Given the description of an element on the screen output the (x, y) to click on. 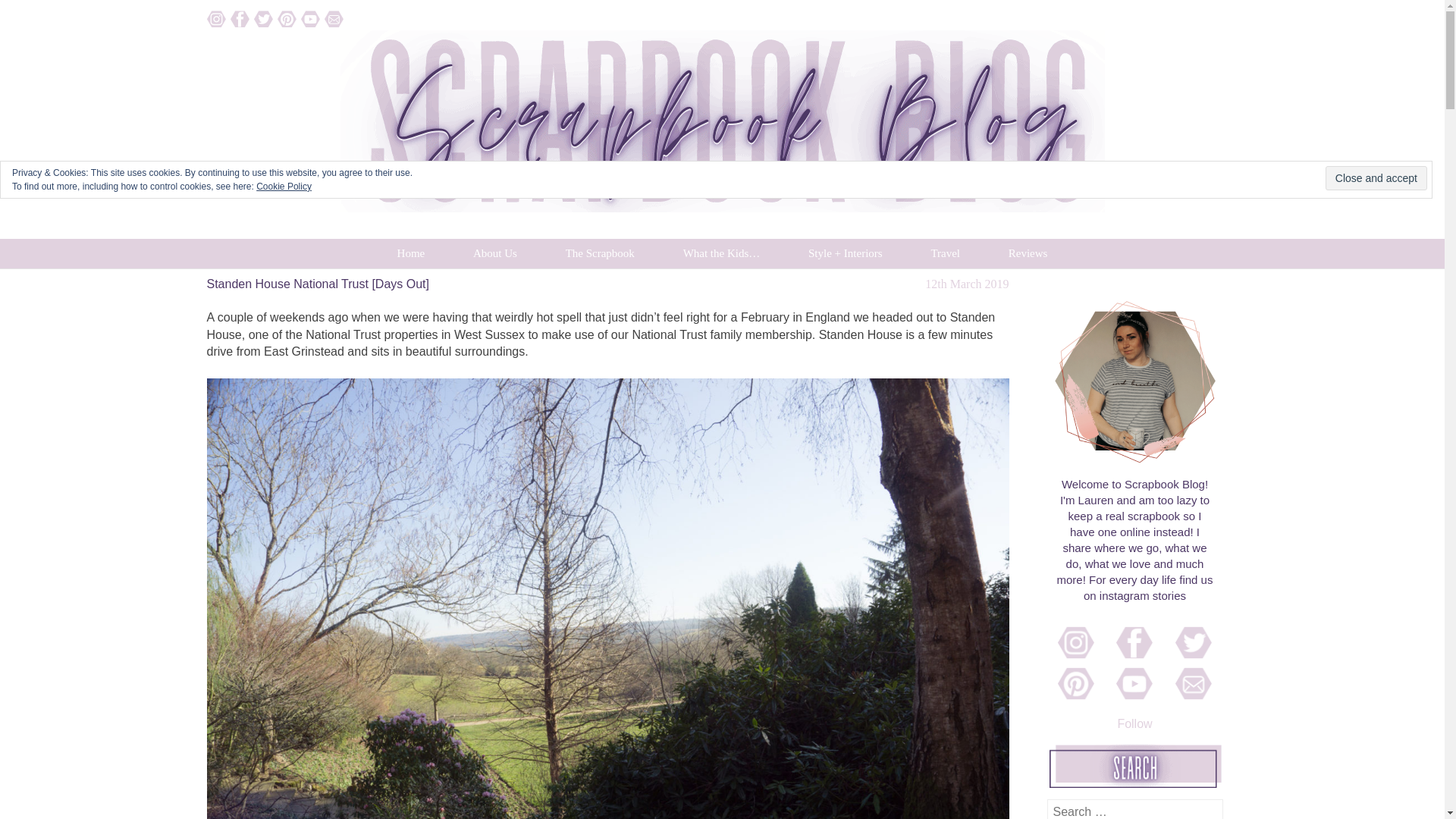
About Us (494, 253)
Reviews (1027, 253)
Travel (944, 253)
Close and accept (1375, 178)
The Scrapbook (600, 253)
Skip to content (212, 247)
12th March 2019 (966, 283)
Home (411, 253)
